Given the description of an element on the screen output the (x, y) to click on. 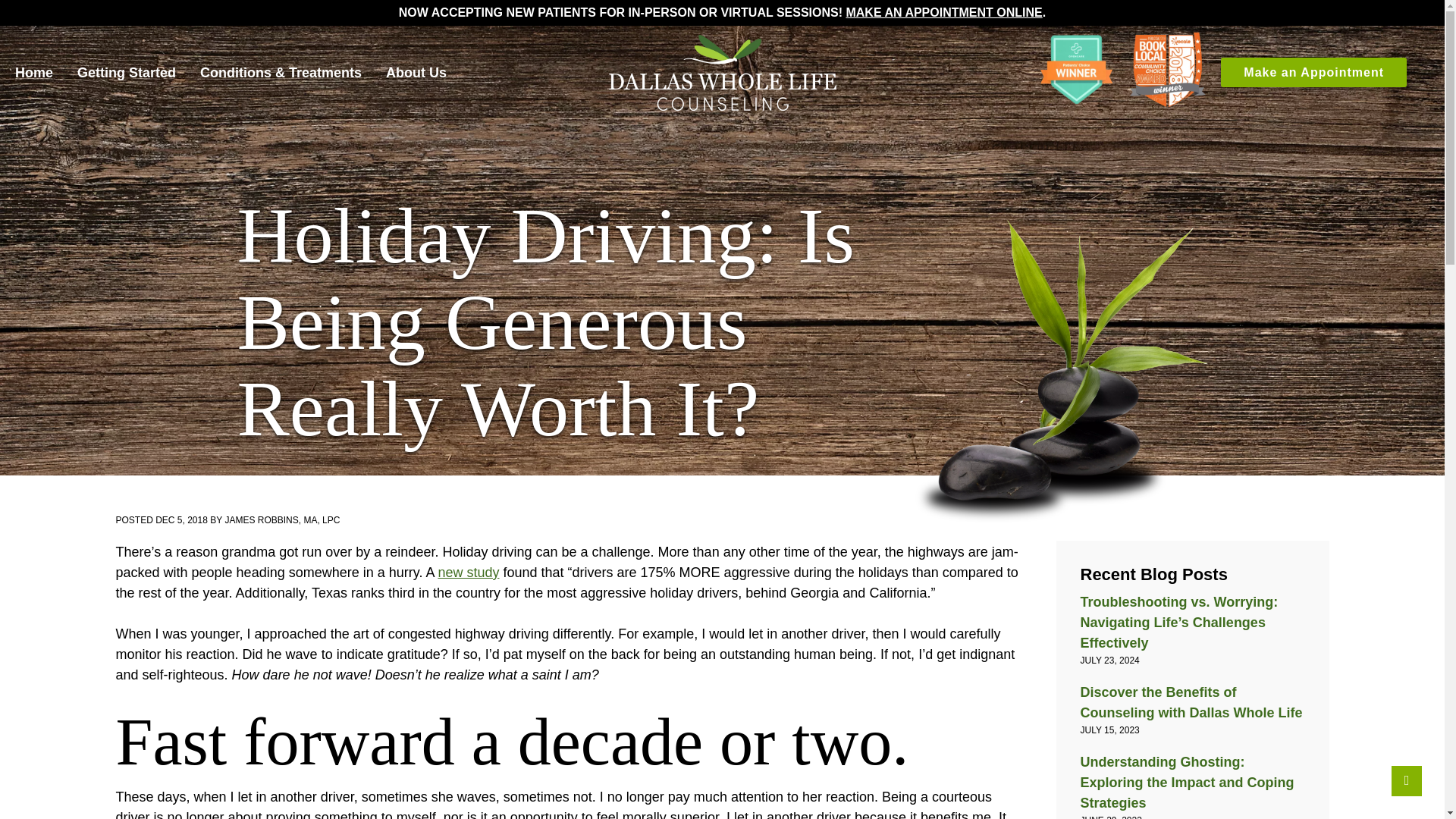
MAKE AN APPOINTMENT ONLINE (943, 11)
Getting Started (138, 72)
